Given the description of an element on the screen output the (x, y) to click on. 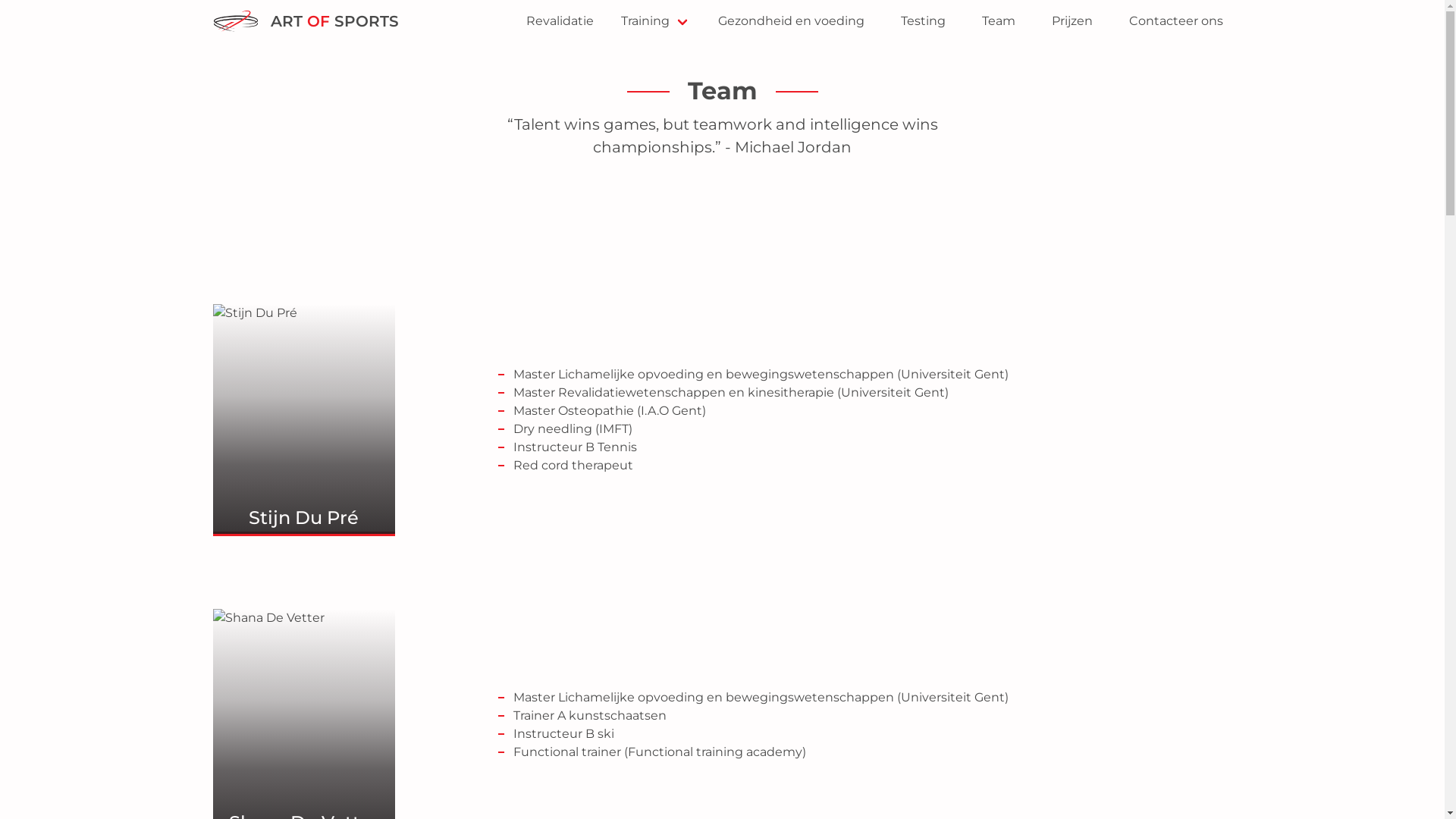
Testing Element type: text (922, 21)
Revalidatie Element type: text (559, 21)
Prijzen Element type: text (1071, 21)
Gezondheid en voeding Element type: text (790, 21)
ART OF SPORTS Element type: text (305, 21)
Contacteer ons Element type: text (1175, 21)
Team Element type: text (997, 21)
Training Element type: text (655, 21)
